Given the description of an element on the screen output the (x, y) to click on. 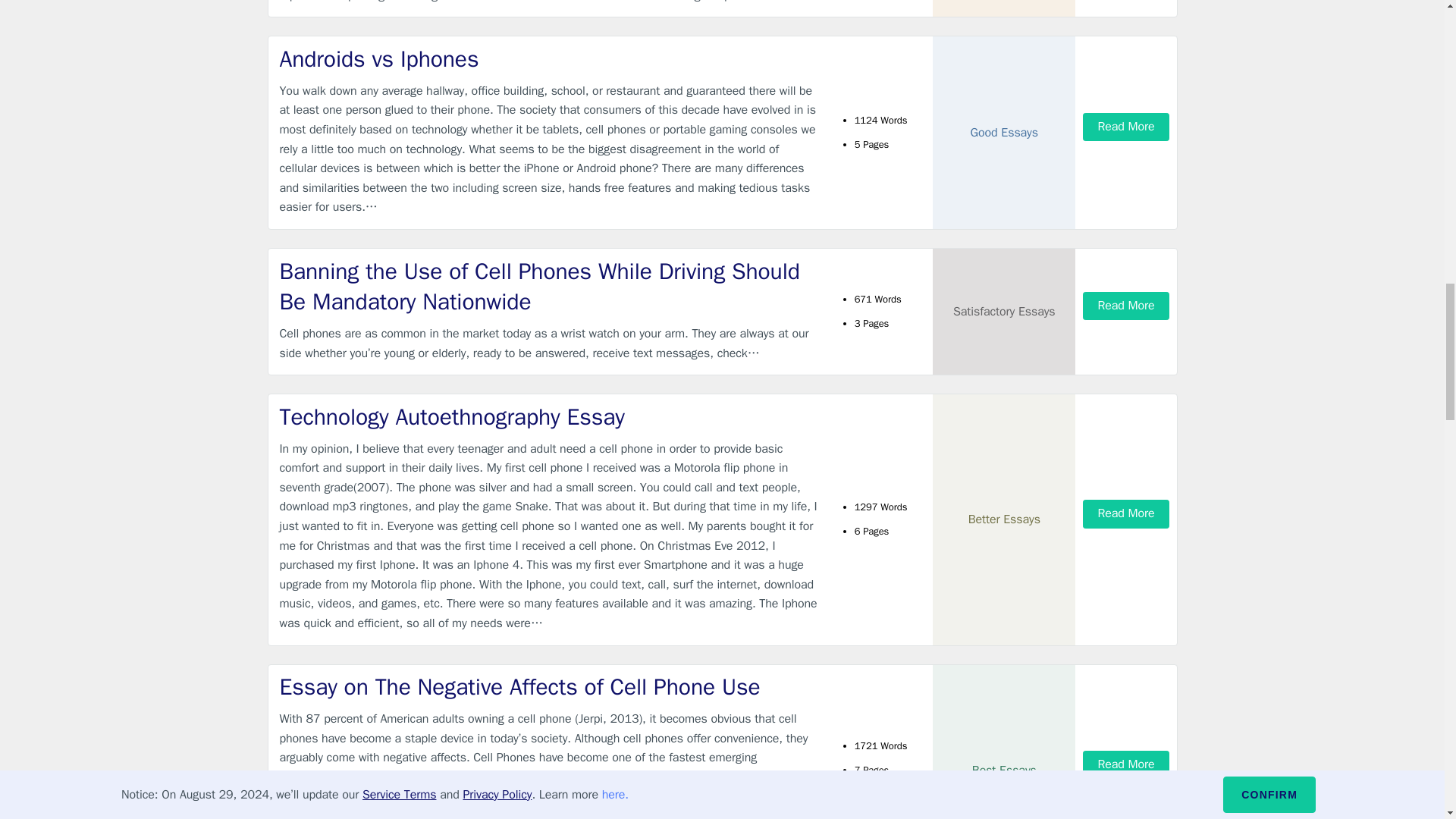
Read More (1126, 305)
Technology Autoethnography Essay (548, 417)
Essay on The Negative Affects of Cell Phone Use (548, 686)
Read More (1126, 513)
Read More (1126, 126)
Read More (1126, 764)
Androids vs Iphones (548, 59)
